Given the description of an element on the screen output the (x, y) to click on. 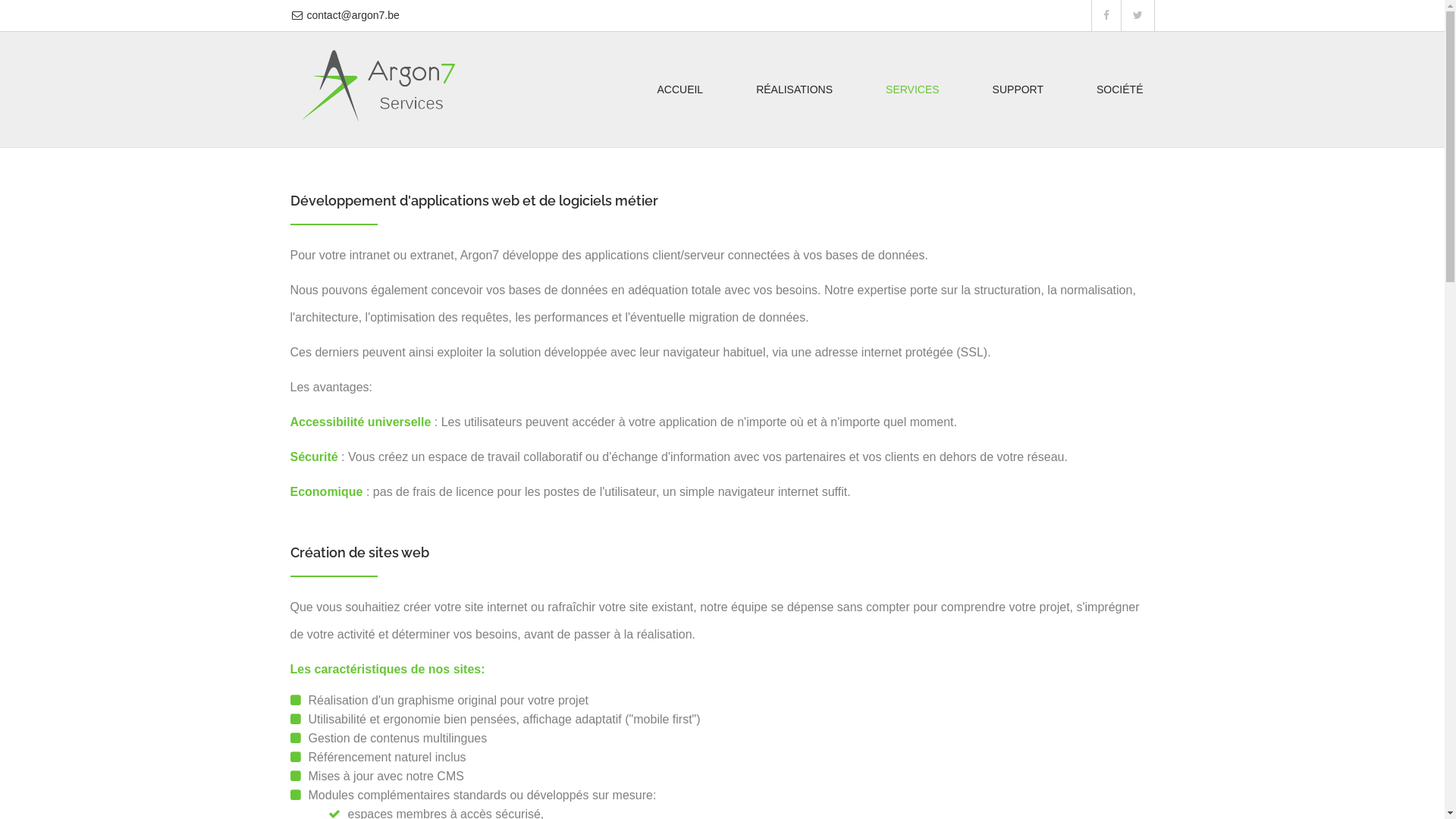
contact@argon7.be Element type: text (352, 15)
ACCUEIL Element type: text (679, 89)
logo Element type: hover (377, 85)
SERVICES Element type: text (912, 89)
SUPPORT Element type: text (1018, 89)
